Given the description of an element on the screen output the (x, y) to click on. 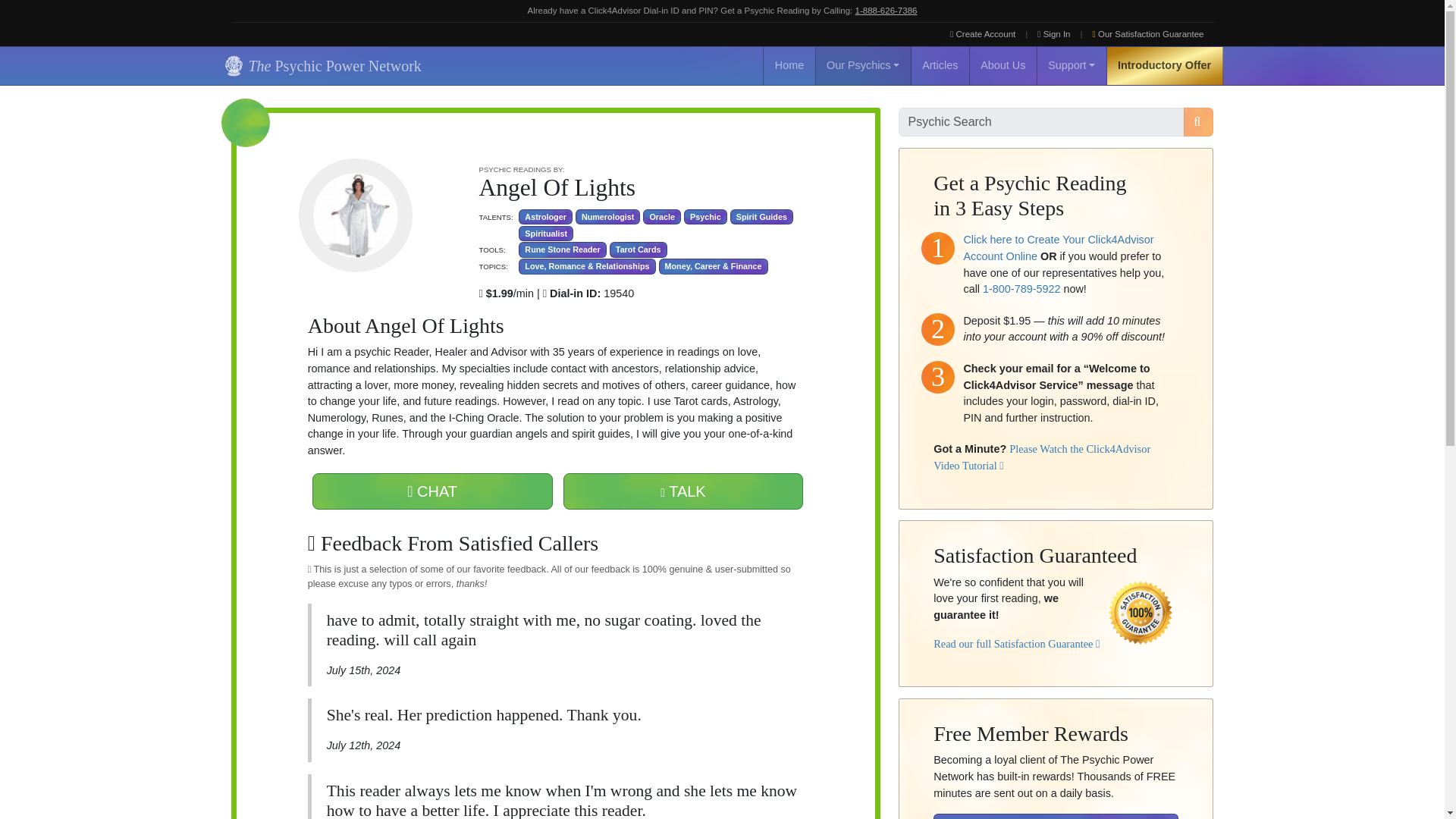
Numerologist (607, 216)
The Psychic Power Network (320, 65)
Tarot Cards (638, 249)
The Psychic Power Network (320, 65)
Spiritualist (545, 233)
Spirit Guides (761, 216)
Psychic (705, 216)
Articles (940, 65)
Home (788, 65)
Our Psychics (863, 65)
About Us (1002, 65)
Home (788, 65)
Introductory Offer (1164, 65)
Create Account (982, 33)
Astrologer (545, 216)
